Given the description of an element on the screen output the (x, y) to click on. 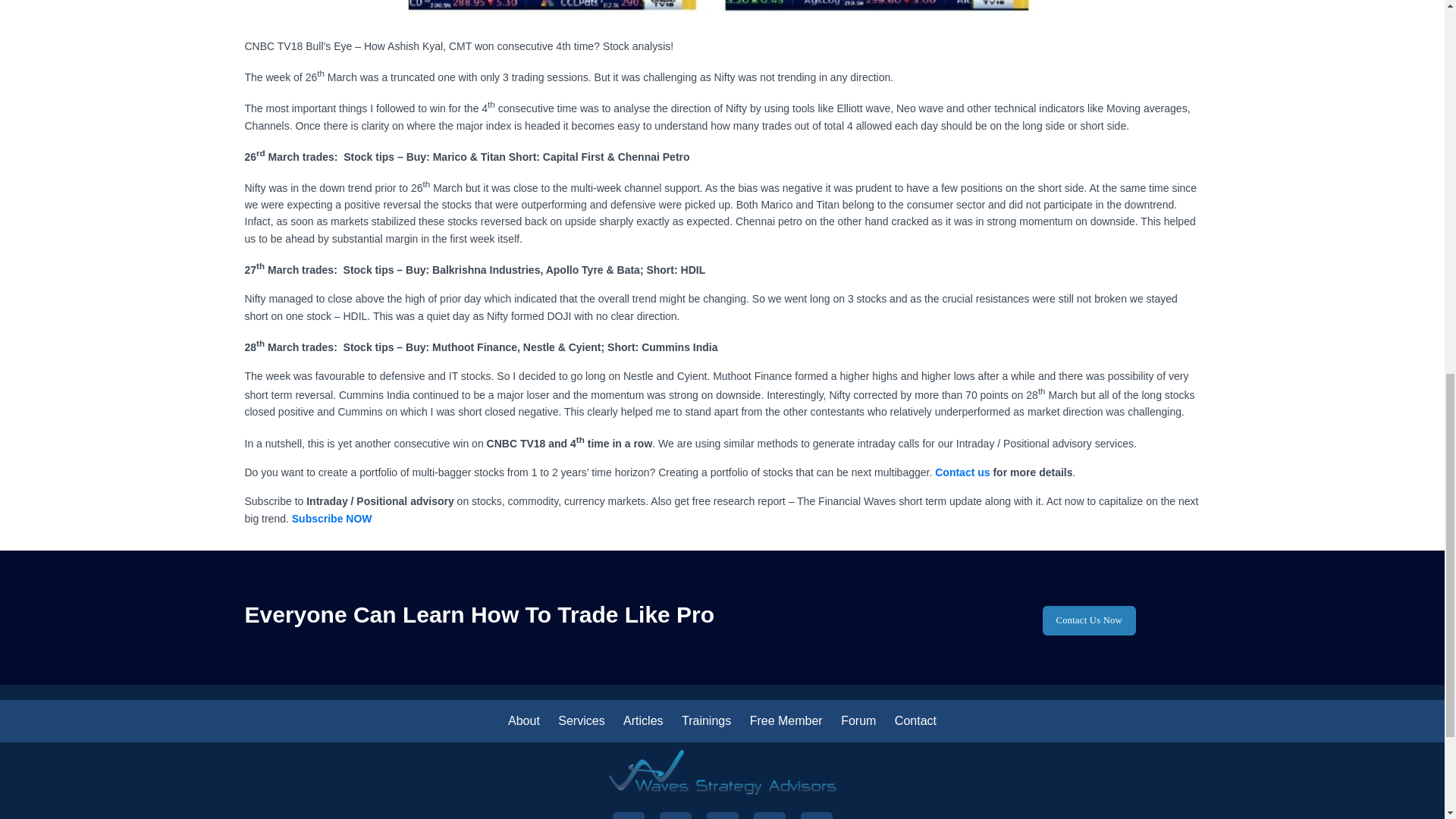
Forum (858, 720)
Subscribe NOW (332, 518)
Contact us (962, 472)
Contact Us Now (1088, 620)
Contact (915, 720)
Articles (642, 720)
Free Member (785, 720)
Services (580, 720)
Trainings (705, 720)
About (524, 720)
